Given the description of an element on the screen output the (x, y) to click on. 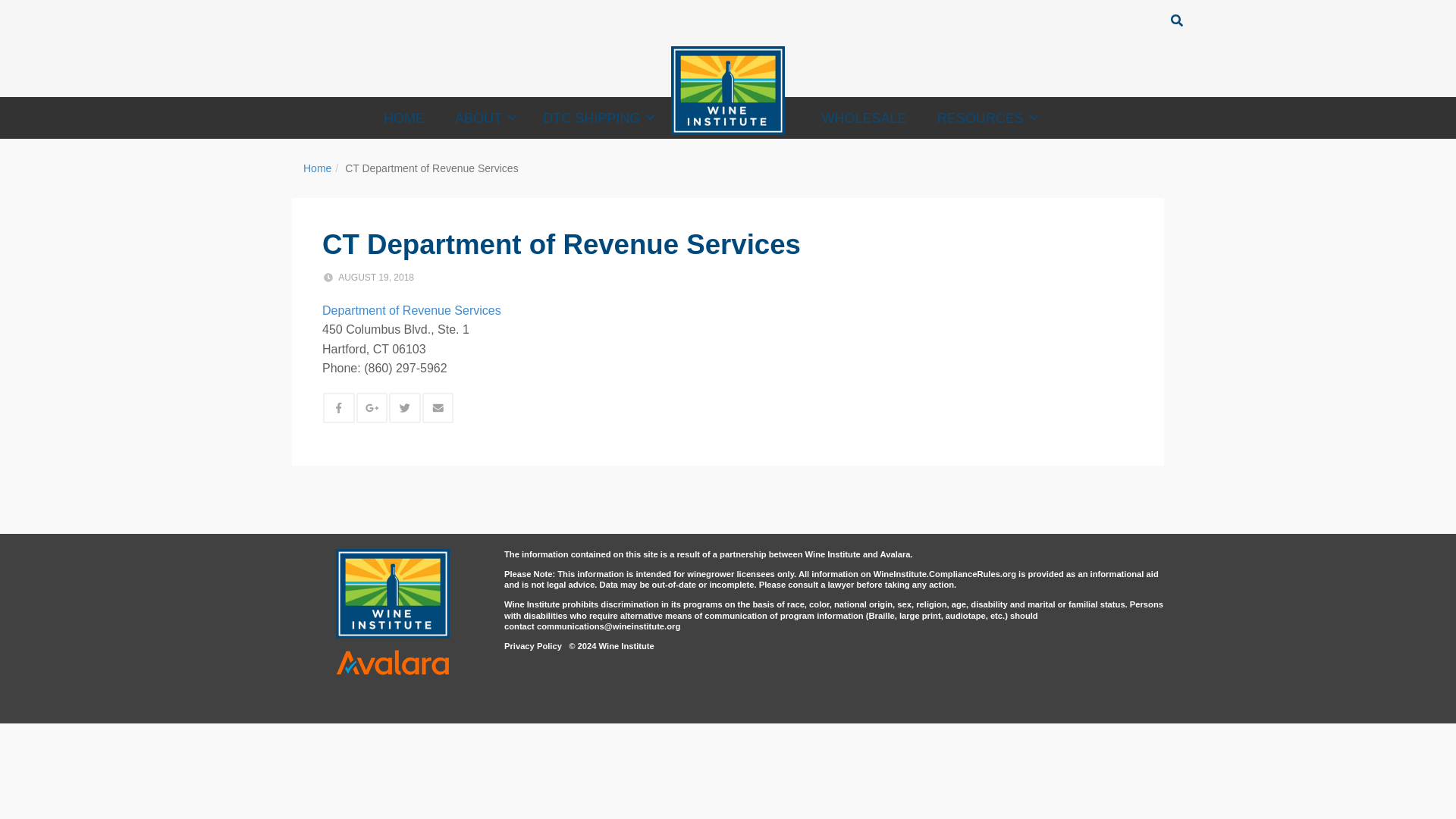
Privacy Policy (532, 645)
DTC SHIPPING (596, 117)
Home (316, 168)
Wine Institute (727, 90)
WineInstitute.ComplianceRules.org (944, 573)
Department of Revenue Services (410, 309)
Home (316, 168)
ABOUT (483, 117)
HOME (403, 117)
WHOLESALE (863, 117)
RESOURCES (985, 117)
